Given the description of an element on the screen output the (x, y) to click on. 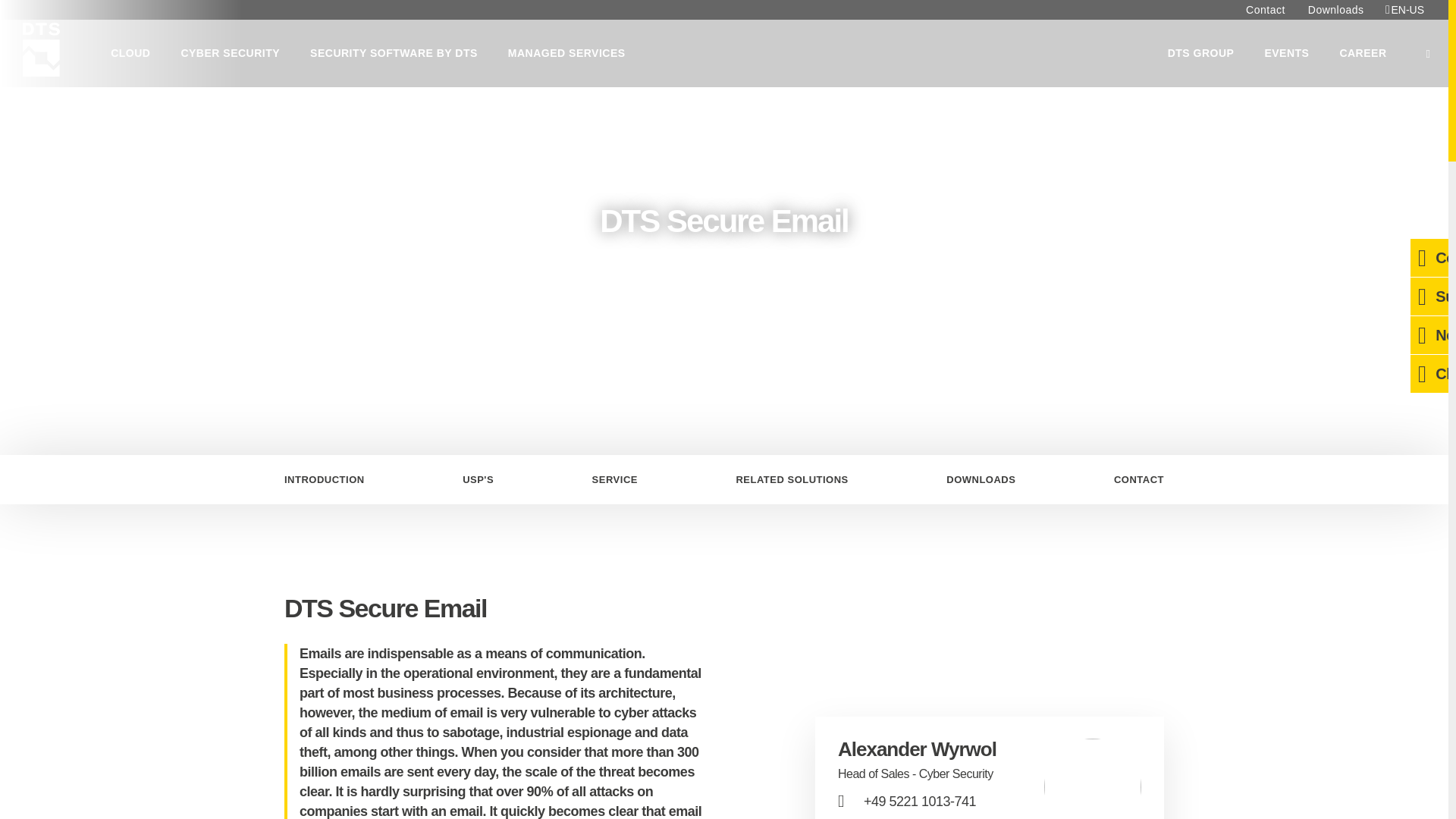
CLOUD (130, 52)
Downloads (1335, 9)
Downloads (980, 479)
CYBER SECURITY (230, 52)
USP's (477, 479)
Introduction (331, 479)
Contact (1131, 479)
Service (614, 479)
EN-US (1405, 9)
Contact (1265, 9)
